Given the description of an element on the screen output the (x, y) to click on. 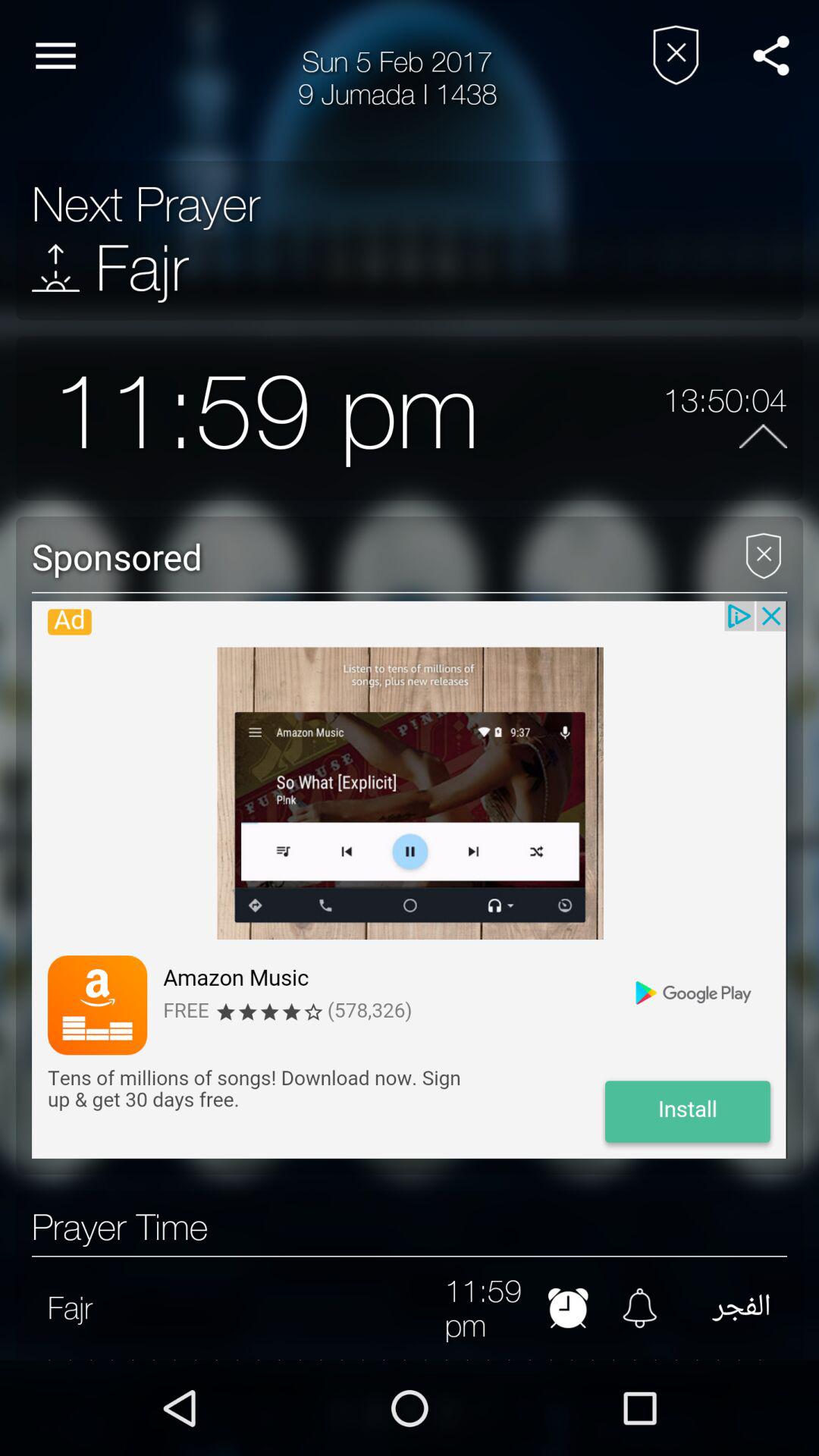
launch the icon above fajr (145, 203)
